Given the description of an element on the screen output the (x, y) to click on. 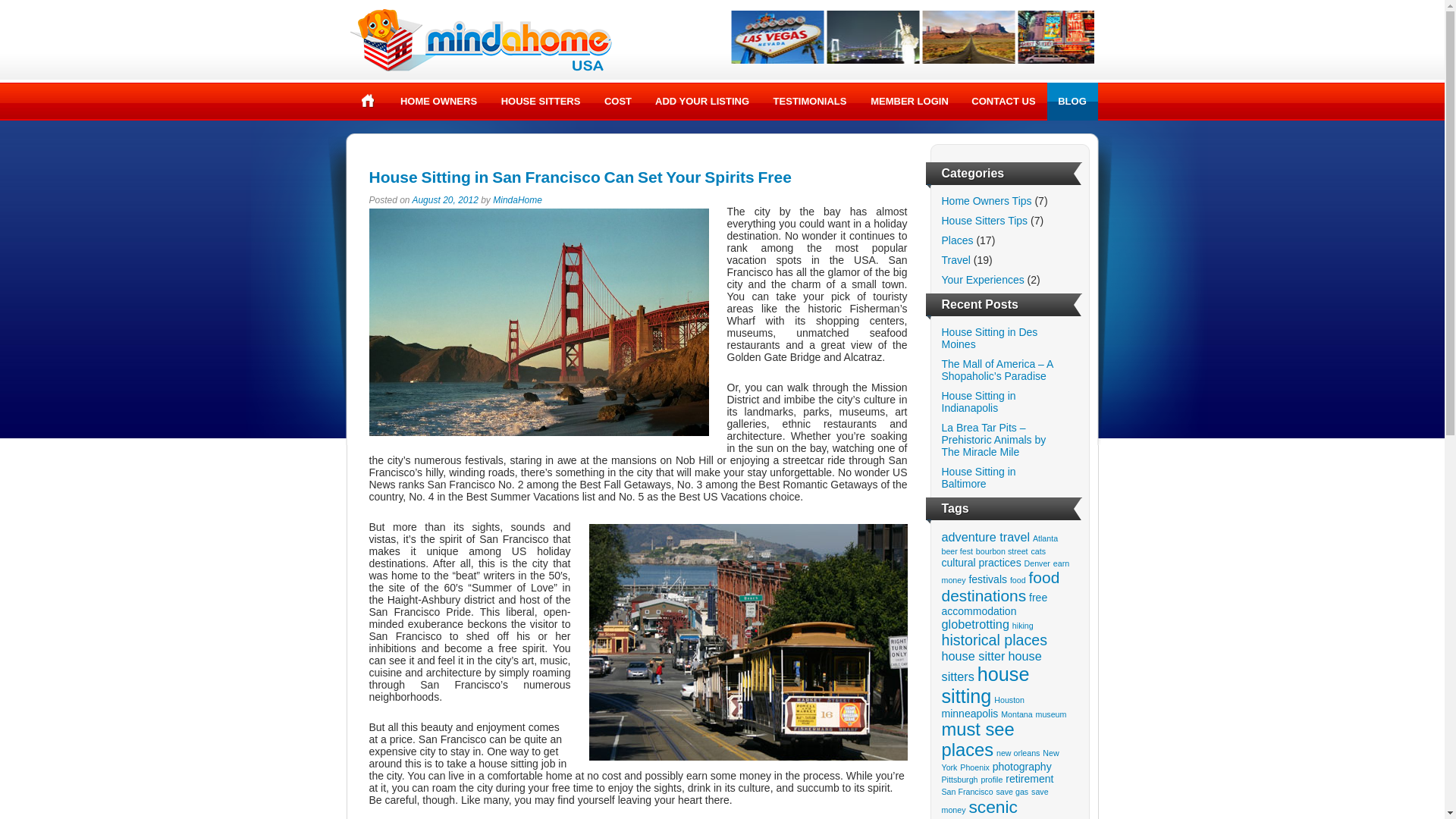
Your Experiences (983, 279)
House Sitting in San Francisco Can Set Your Spirits Free (579, 176)
House Sitters Tips (984, 220)
MindaHome (517, 199)
Home Owners Tips (987, 200)
TESTIMONIALS (810, 101)
HOUSE SITTERS (539, 101)
MEMBER LOGIN (909, 101)
HOME (367, 100)
ADD YOUR LISTING (701, 101)
